Given the description of an element on the screen output the (x, y) to click on. 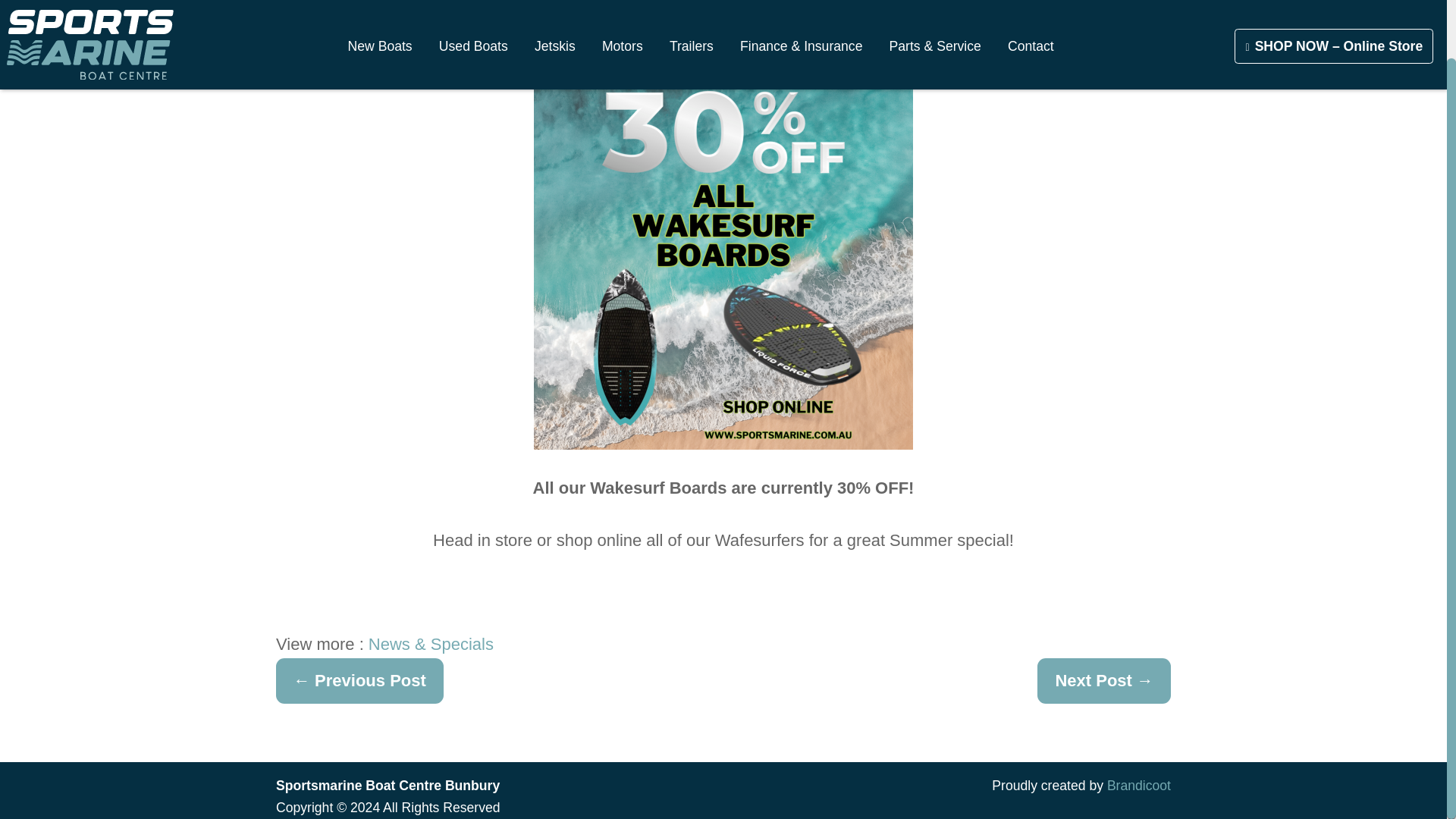
Home (90, 22)
Used Boats (473, 13)
Contact (1030, 13)
New Boats (379, 13)
Jetskis (554, 13)
Motors (622, 13)
Trailers (691, 13)
Brandicoot (1138, 785)
